Given the description of an element on the screen output the (x, y) to click on. 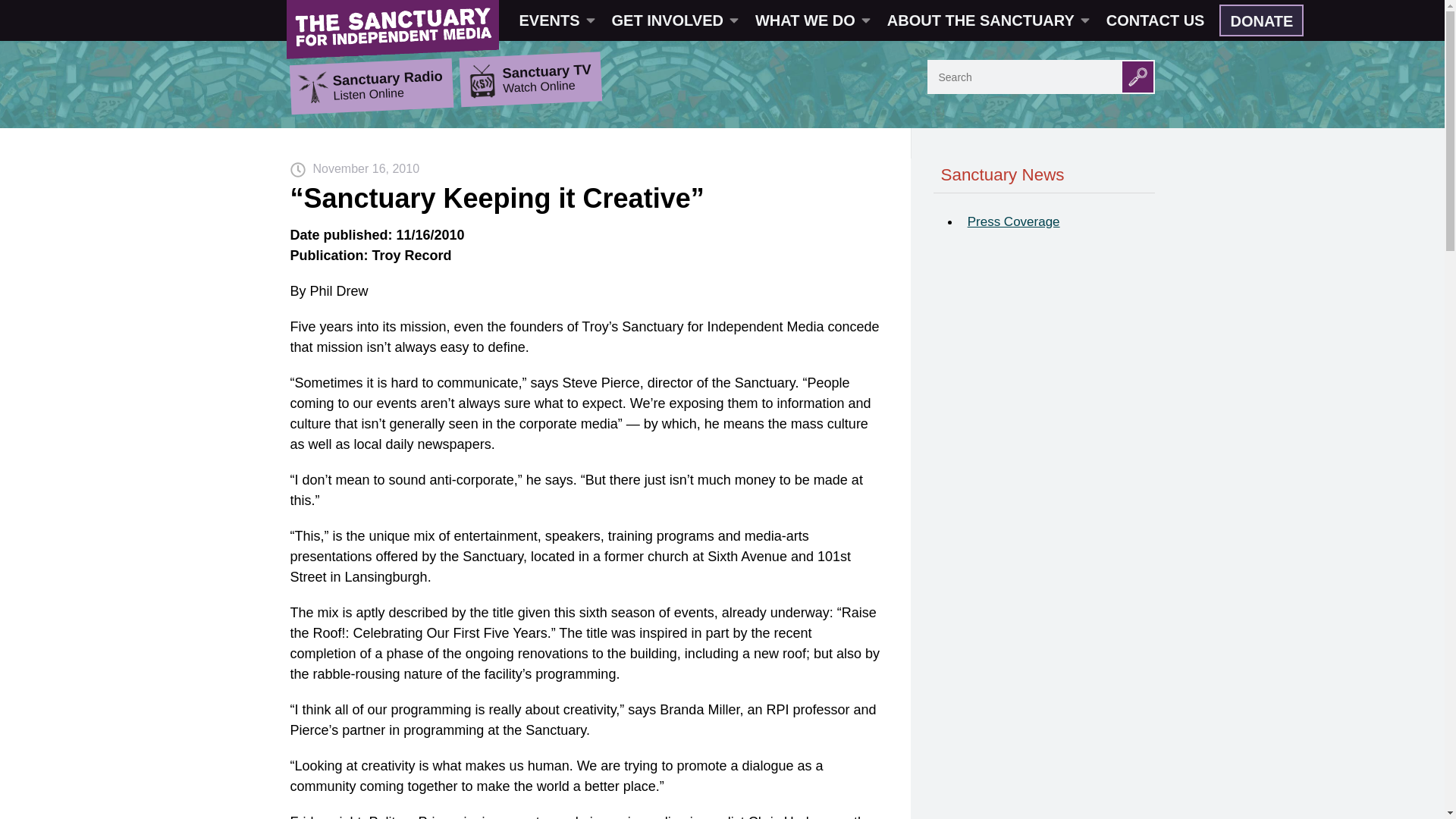
WHAT WE DO (811, 20)
EVENTS (555, 20)
GET INVOLVED (673, 20)
ABOUT THE SANCTUARY (987, 20)
